Given the description of an element on the screen output the (x, y) to click on. 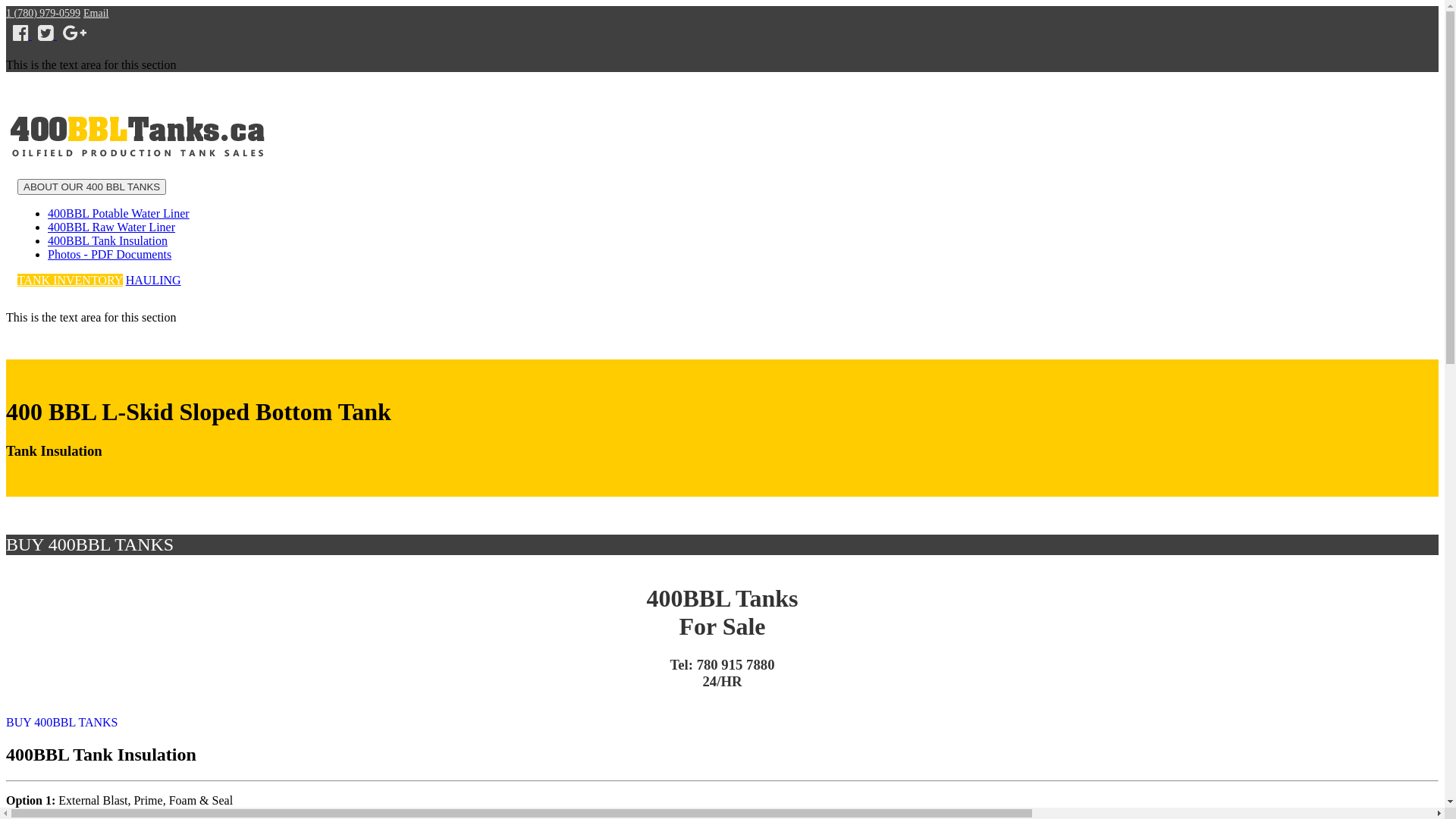
1 (780) 979-0599 Element type: text (43, 12)
Photos - PDF Documents Element type: text (109, 253)
400BBL Tank Insulation Element type: text (107, 240)
400BBL Potable Water Liner Element type: text (118, 213)
Google + Element type: hover (74, 34)
400BBL Raw Water Liner Element type: text (111, 226)
HAULING Element type: text (153, 279)
Facebook Element type: hover (21, 34)
Email Element type: text (95, 12)
TANK INVENTORY Element type: text (69, 279)
BUY 400BBL TANKS Element type: text (61, 721)
twitter Element type: hover (46, 34)
ABOUT OUR 400 BBL TANKS Element type: text (91, 186)
